Given the description of an element on the screen output the (x, y) to click on. 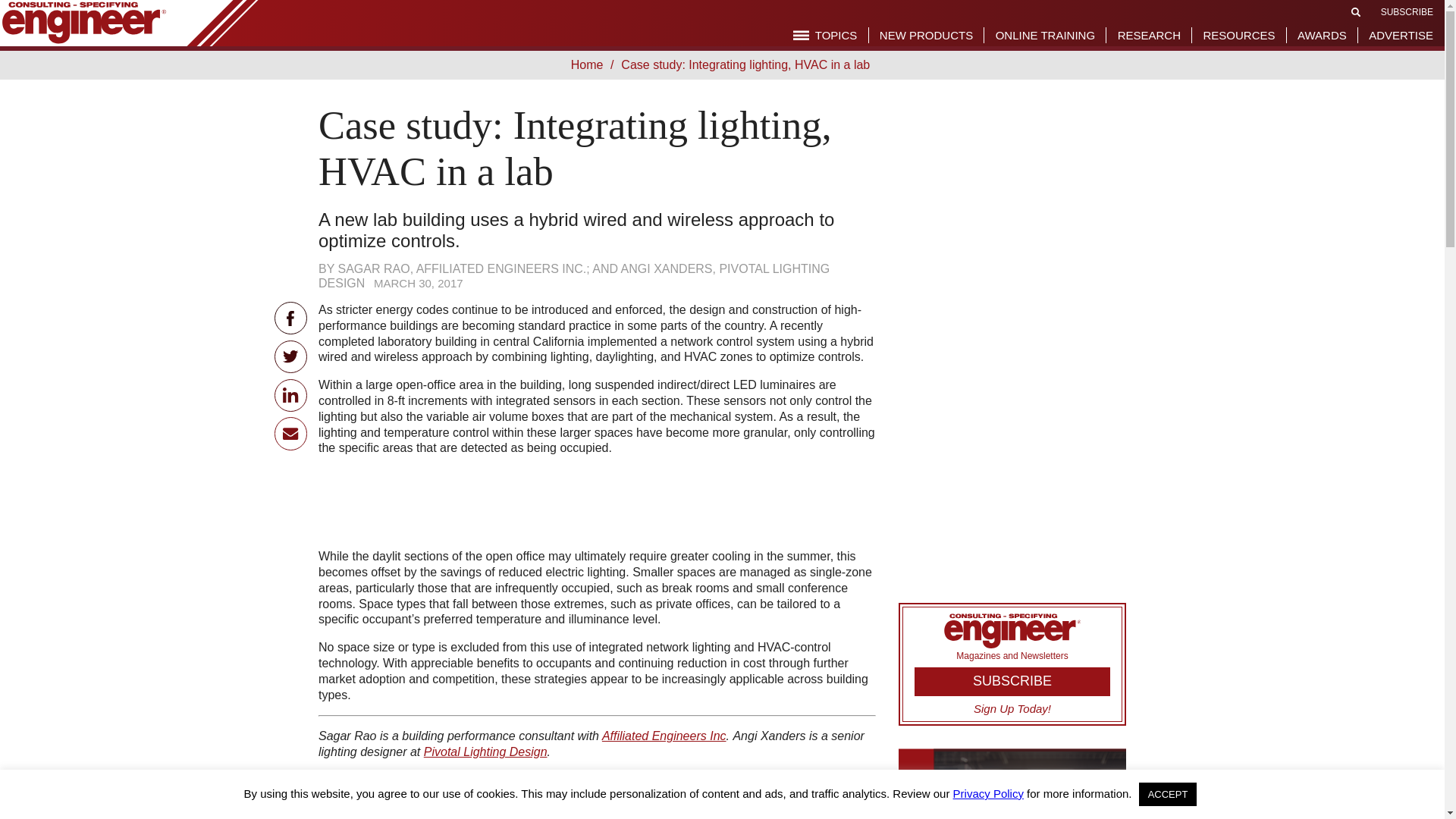
Search (1356, 11)
Twitter (291, 356)
RESEARCH (1149, 34)
Affiliated Engineers Inc (664, 735)
RESOURCES (1238, 34)
Home (590, 64)
Facebook (291, 318)
SUBSCRIBE (1406, 11)
NEW PRODUCTS (925, 34)
